Given the description of an element on the screen output the (x, y) to click on. 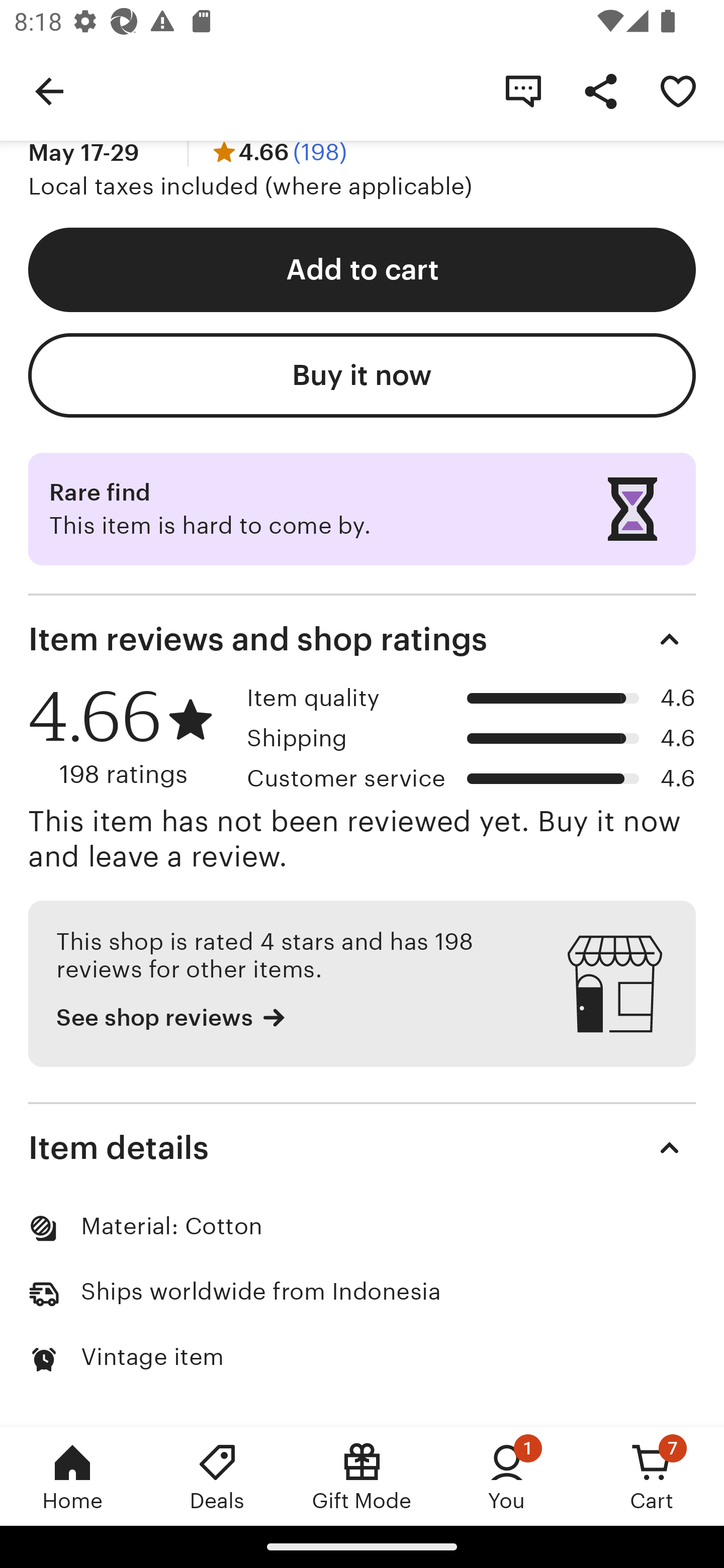
Navigate up (49, 90)
Contact shop (523, 90)
Share (600, 90)
4.66 (198) (277, 151)
Add to cart (361, 269)
Buy it now (361, 374)
Item reviews and shop ratings (362, 639)
4.66 198 ratings (130, 736)
Item details (362, 1147)
Deals (216, 1475)
Gift Mode (361, 1475)
You, 1 new notification You (506, 1475)
Cart, 7 new notifications Cart (651, 1475)
